Given the description of an element on the screen output the (x, y) to click on. 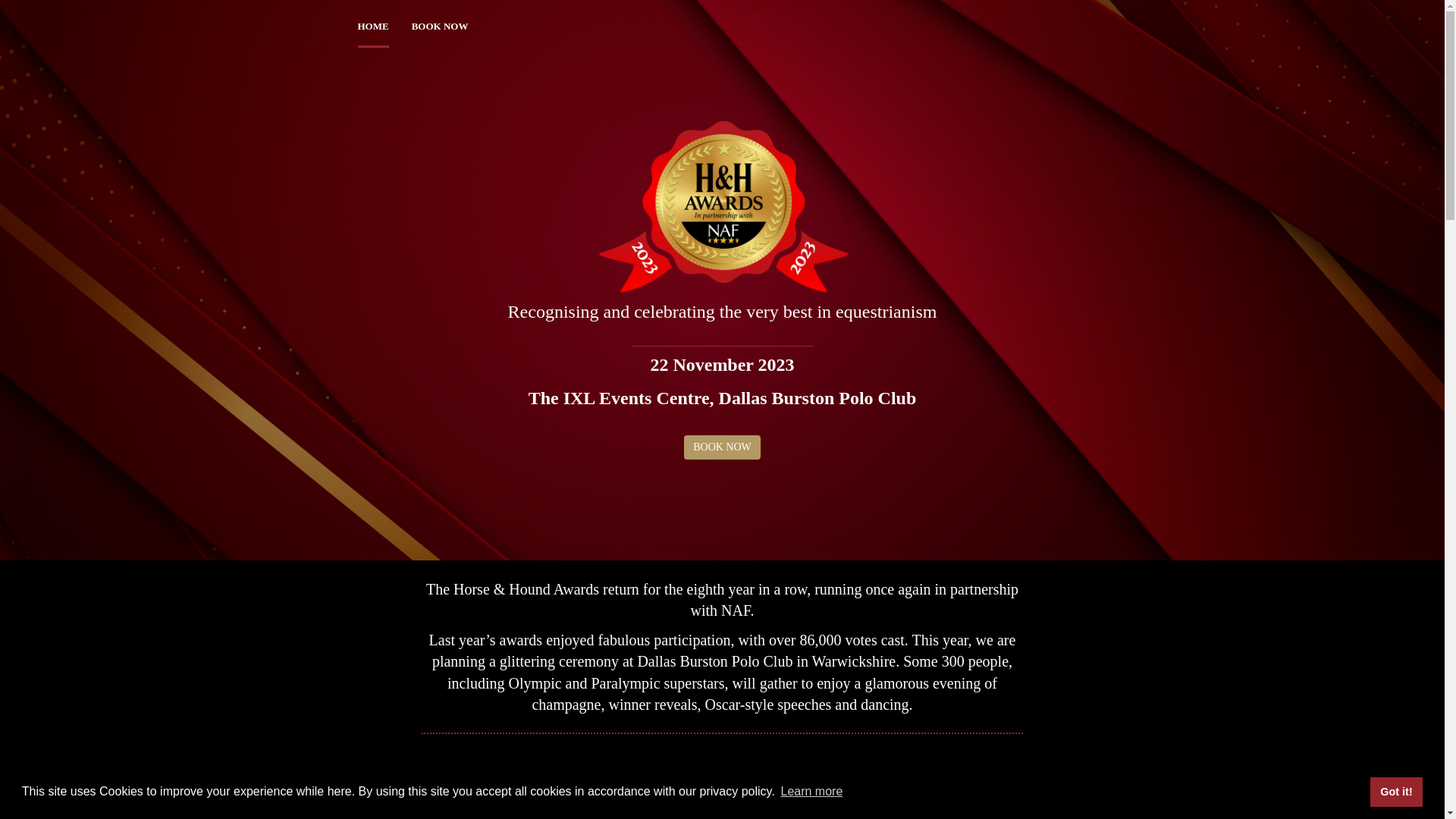
BOOK NOW (722, 446)
Learn more (810, 791)
Got it! (1396, 791)
BOOK NOW (440, 26)
